Given the description of an element on the screen output the (x, y) to click on. 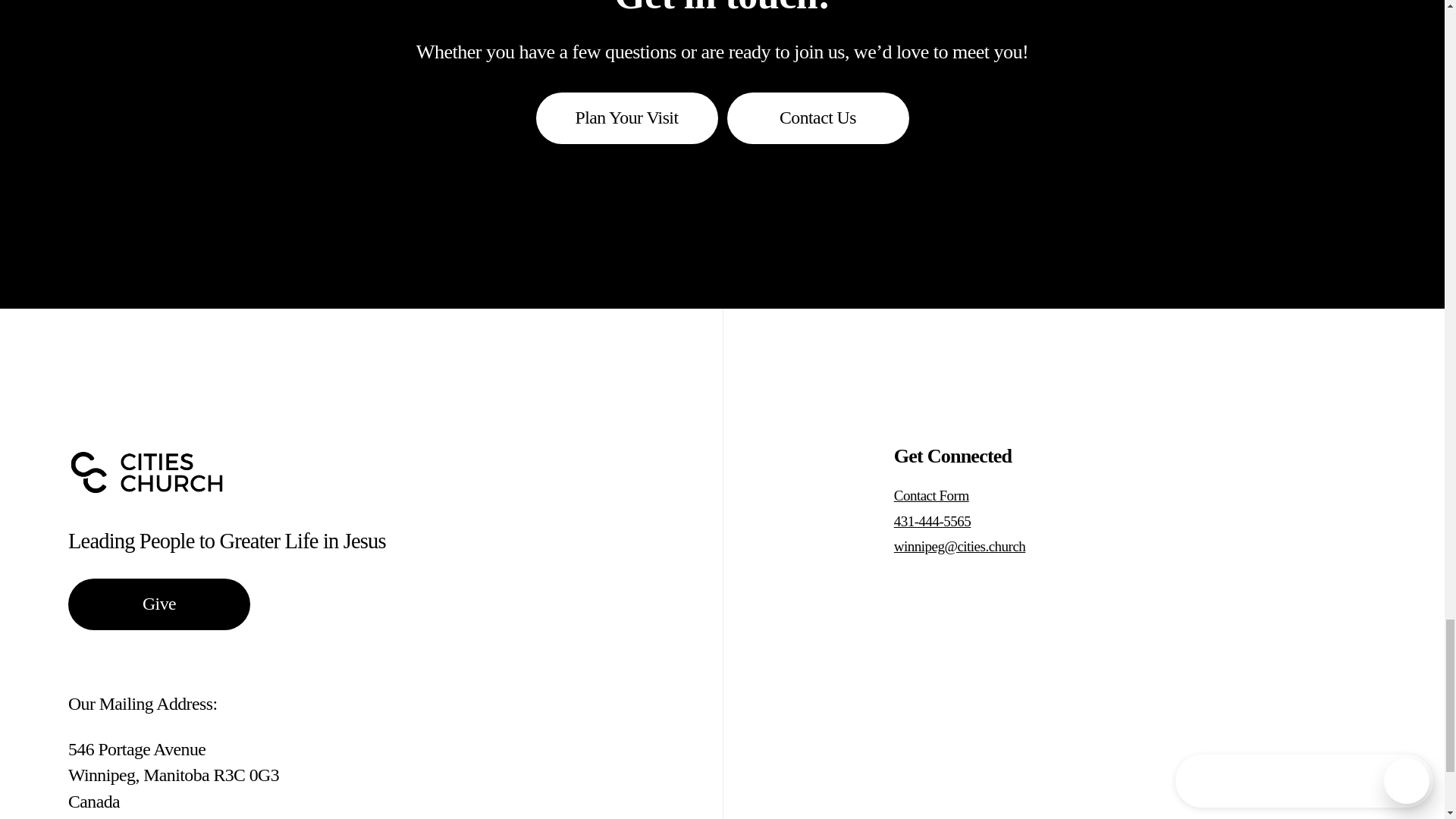
Get Connected (952, 455)
Plan Your Visit (626, 118)
431-444-5565 (977, 520)
Contact Us (817, 118)
Contact Form (977, 495)
Give (159, 603)
